Given the description of an element on the screen output the (x, y) to click on. 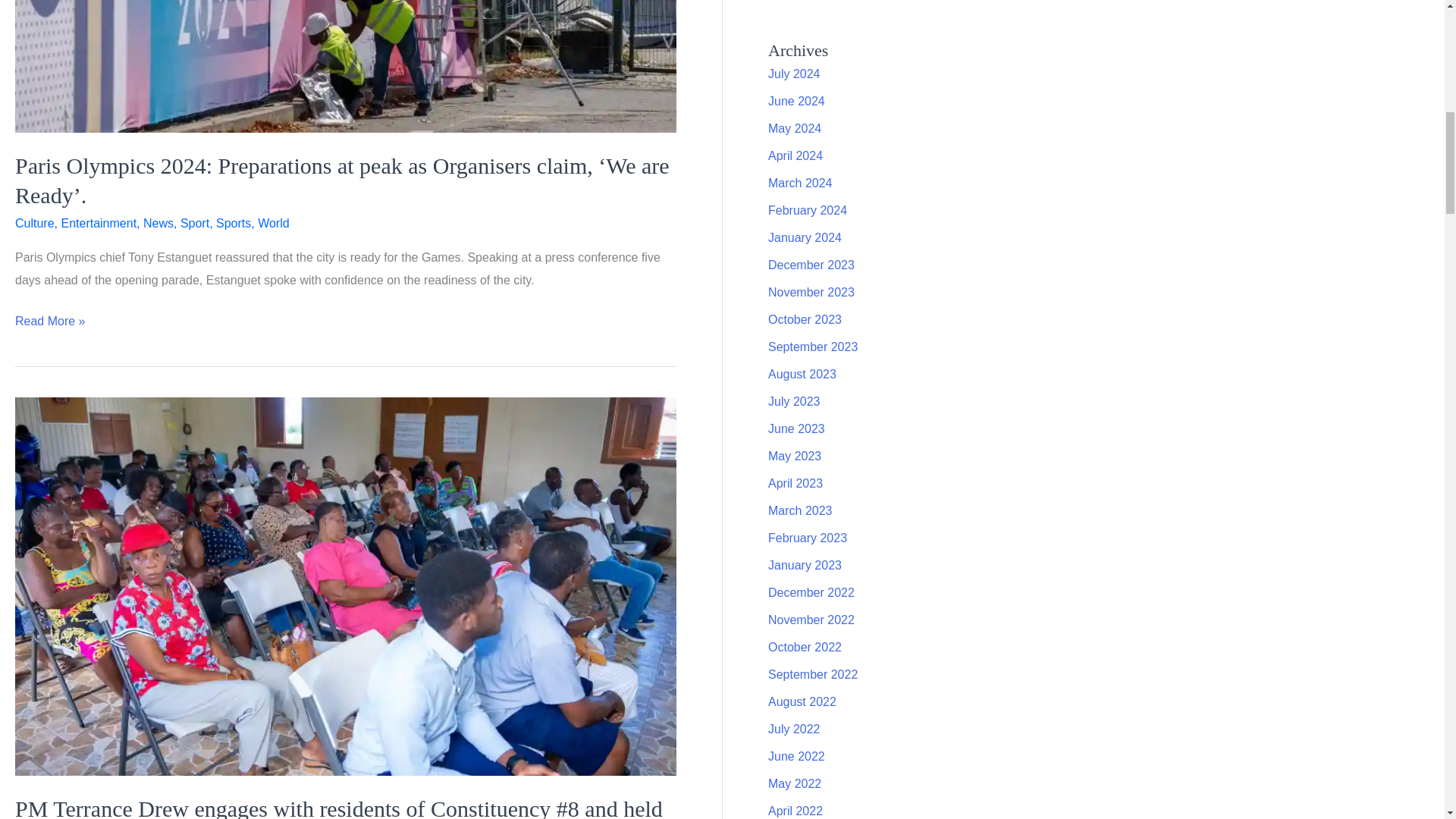
Sport (194, 223)
Entertainment (98, 223)
Culture (34, 223)
News (157, 223)
Sports (232, 223)
